Given the description of an element on the screen output the (x, y) to click on. 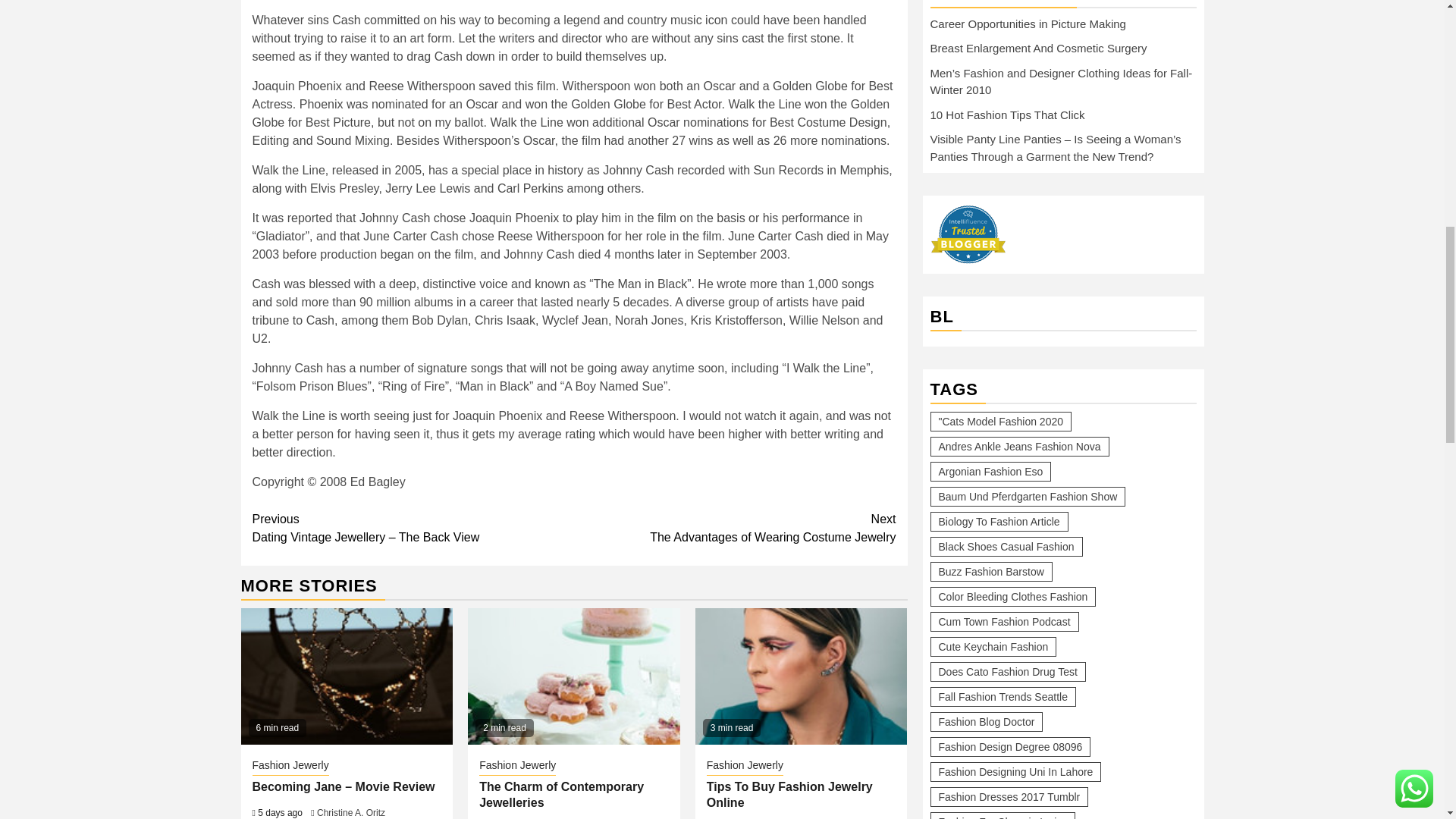
The Charm of Contemporary Jewelleries (573, 676)
Tips To Buy Fashion Jewelry Online (801, 676)
Tips To Buy Fashion Jewelry Online (734, 528)
Christine A. Oritz (789, 794)
The Charm of Contemporary Jewelleries (351, 812)
Fashion Jewerly (561, 794)
Fashion Jewerly (744, 766)
Fashion Jewerly (517, 766)
